Given the description of an element on the screen output the (x, y) to click on. 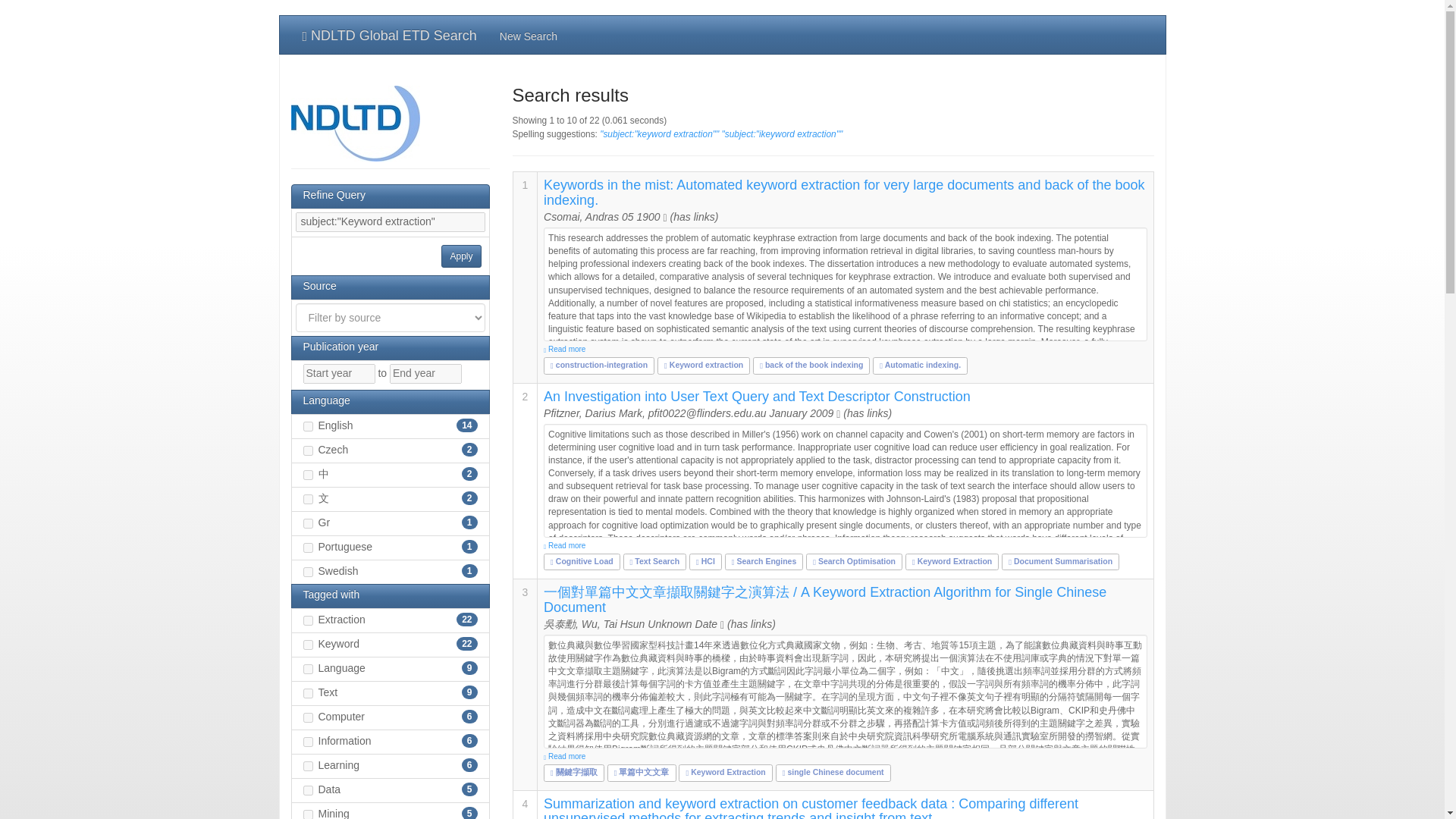
single Chinese document (833, 771)
Text Search (654, 560)
Keyword Extraction (951, 560)
portuguese (307, 547)
text (307, 693)
swedish (307, 572)
Apply (460, 255)
language (307, 669)
Read more (845, 545)
czech (307, 450)
